Given the description of an element on the screen output the (x, y) to click on. 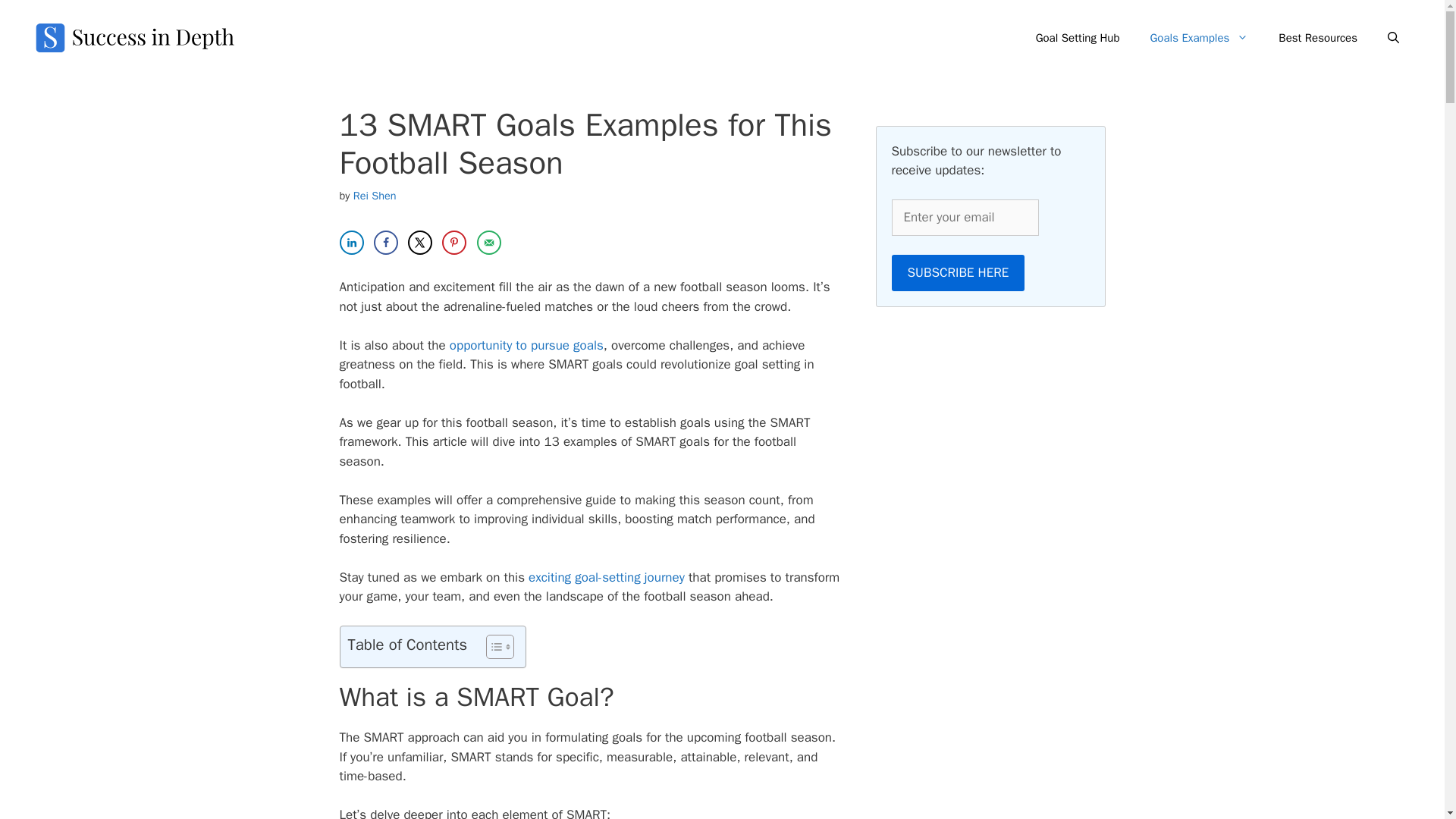
Best Resources (1318, 37)
Share on LinkedIn (351, 242)
Share on X (419, 242)
Save to Pinterest (453, 242)
Goals Examples (1198, 37)
Goal Setting Hub (1077, 37)
opportunity to pursue goals (526, 344)
Share on Facebook (385, 242)
exciting goal-setting journey (606, 577)
Rei Shen (374, 195)
